Given the description of an element on the screen output the (x, y) to click on. 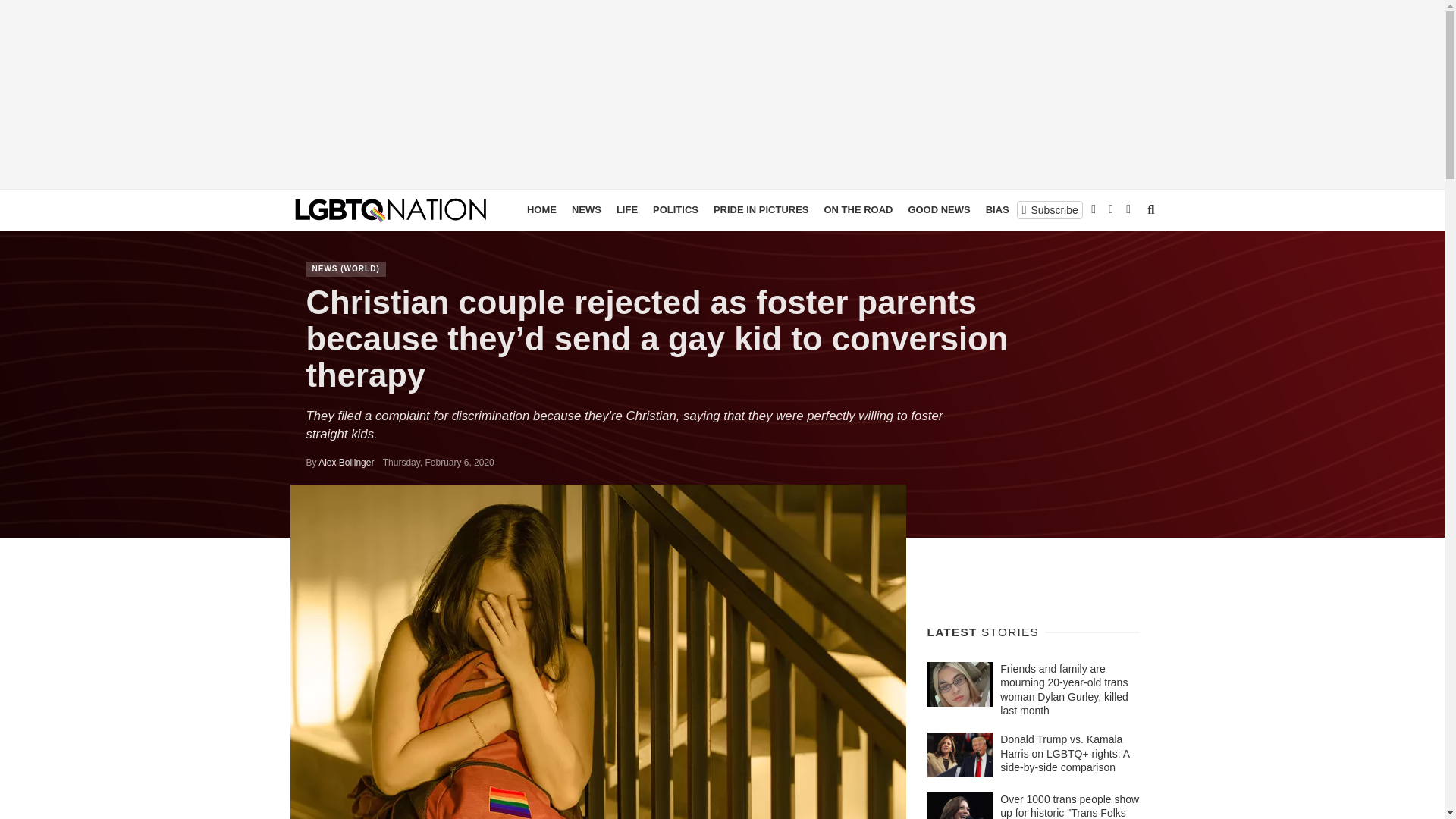
NEWS (586, 209)
LIFE (626, 209)
Posts by Alex Bollinger (346, 462)
GOOD NEWS (937, 209)
Subscribe (1049, 209)
Thursday, February 6, 2020 pm29 14:00:50 (438, 462)
COMMENTARY (1097, 209)
BIAS WATCH (1016, 209)
POLITICS (675, 209)
